Given the description of an element on the screen output the (x, y) to click on. 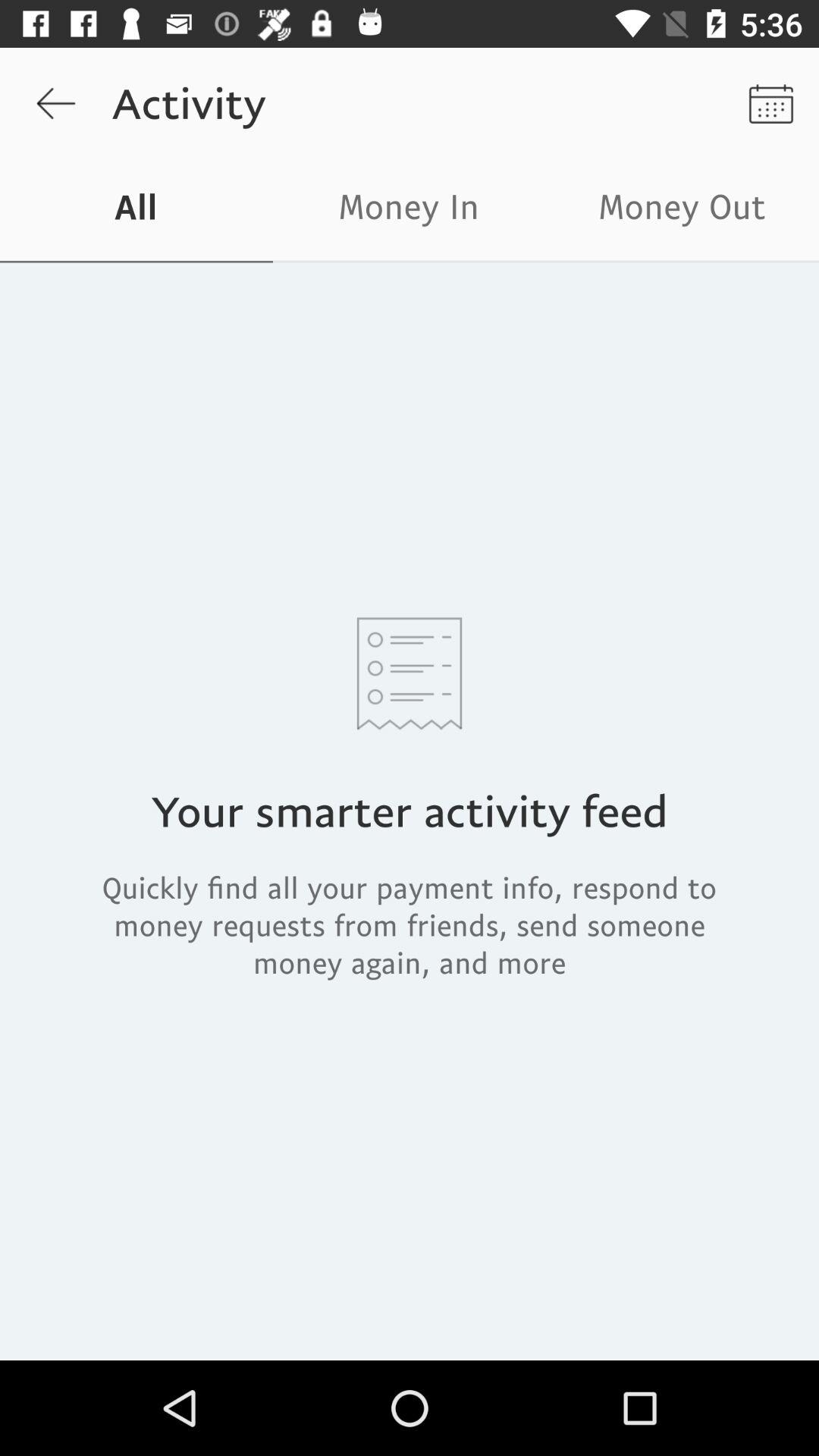
open the icon to the right of all (409, 210)
